Given the description of an element on the screen output the (x, y) to click on. 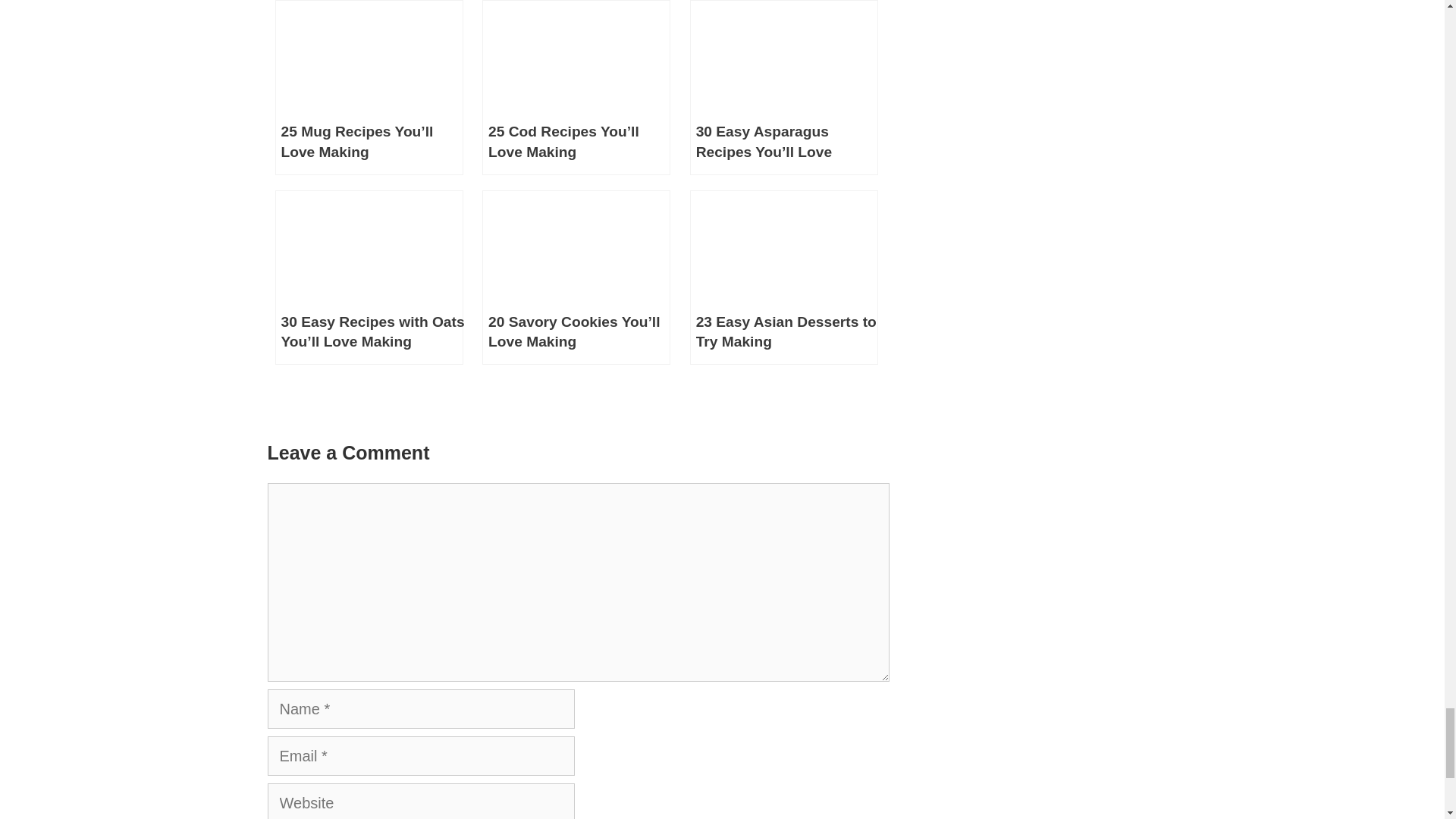
23 Easy Asian Desserts to Try Making (783, 277)
